Given the description of an element on the screen output the (x, y) to click on. 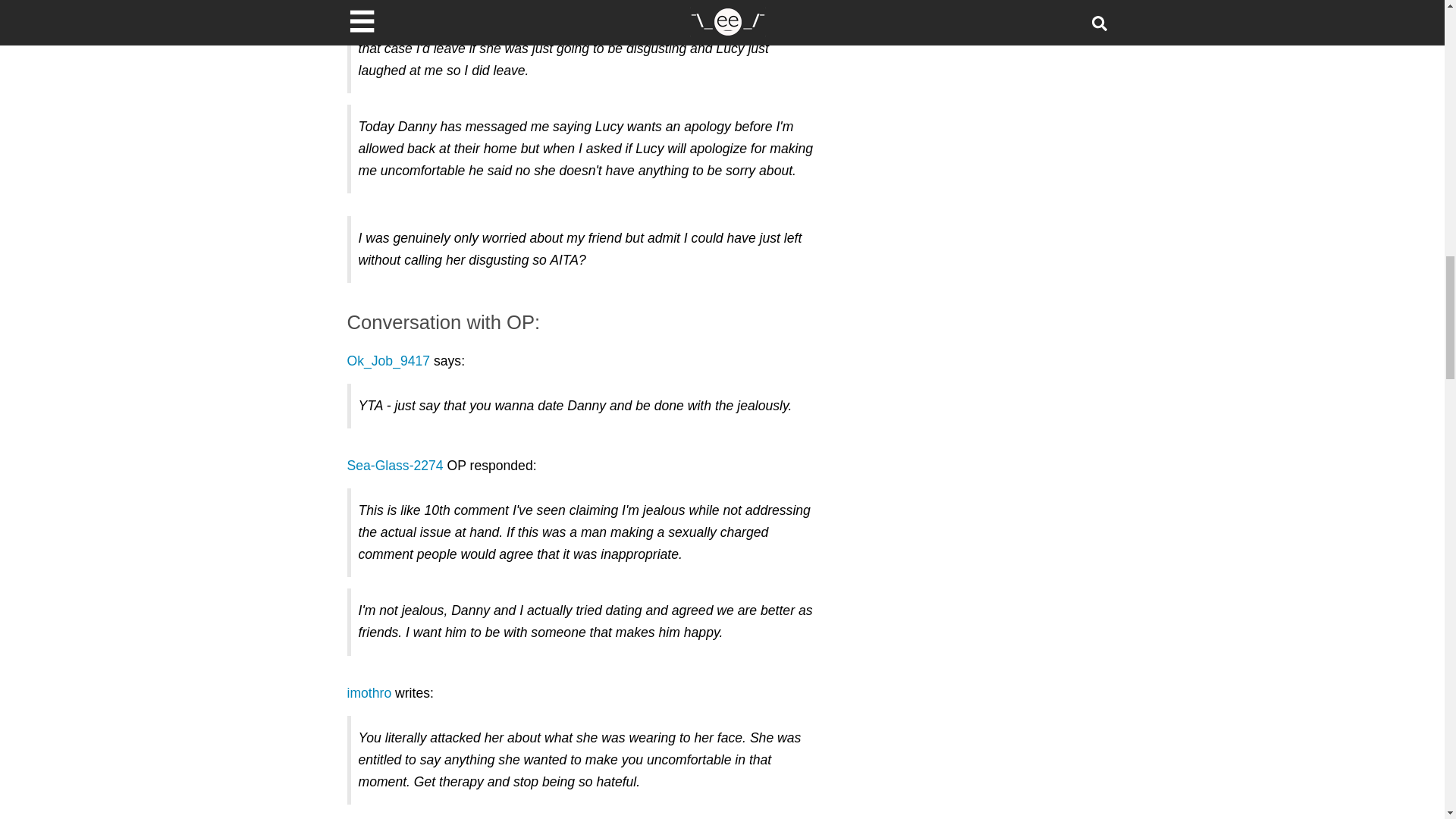
Sea-Glass-2274 (395, 465)
imothro (369, 693)
